Given the description of an element on the screen output the (x, y) to click on. 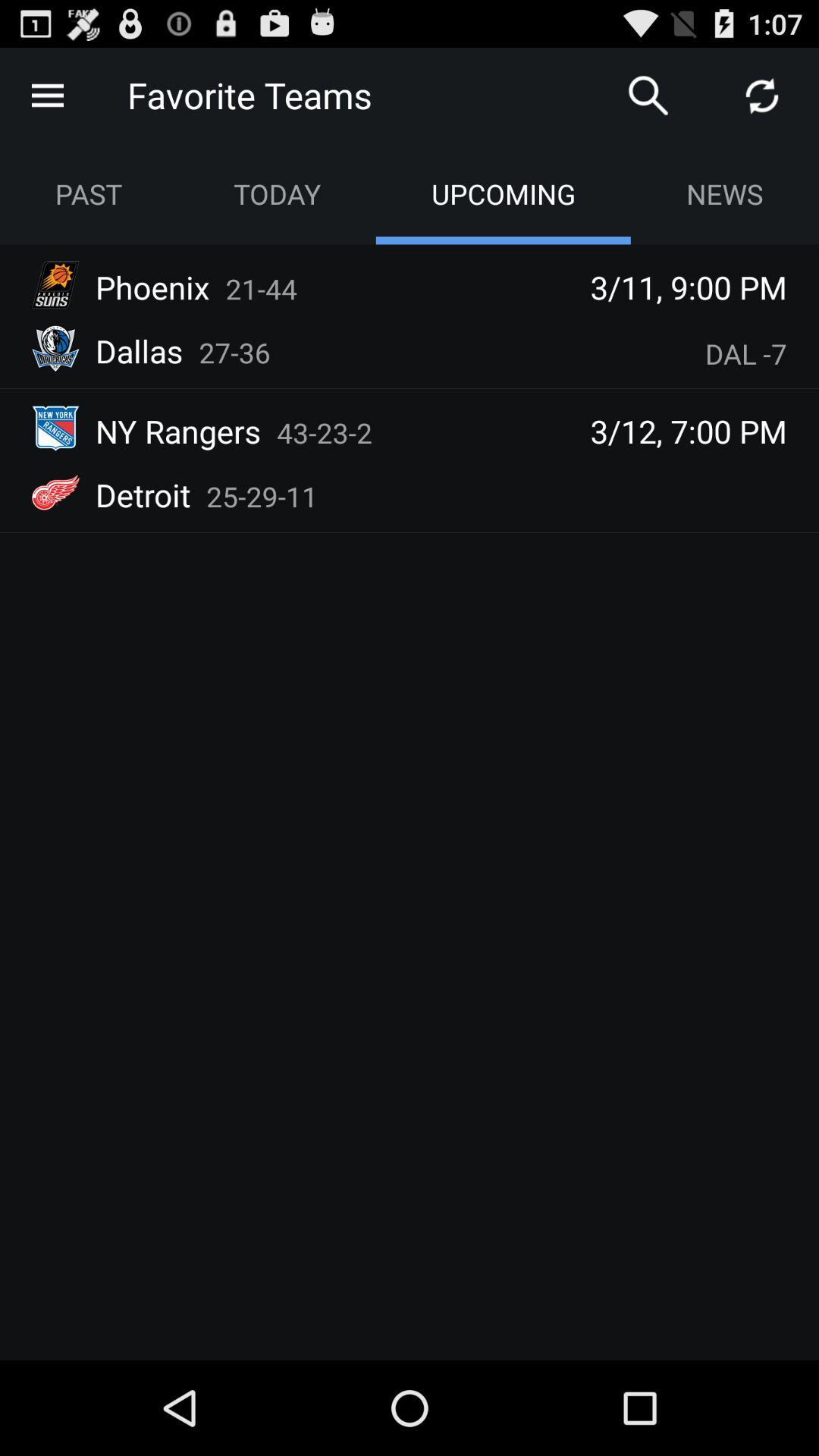
open the 43-23-2 item (324, 432)
